Given the description of an element on the screen output the (x, y) to click on. 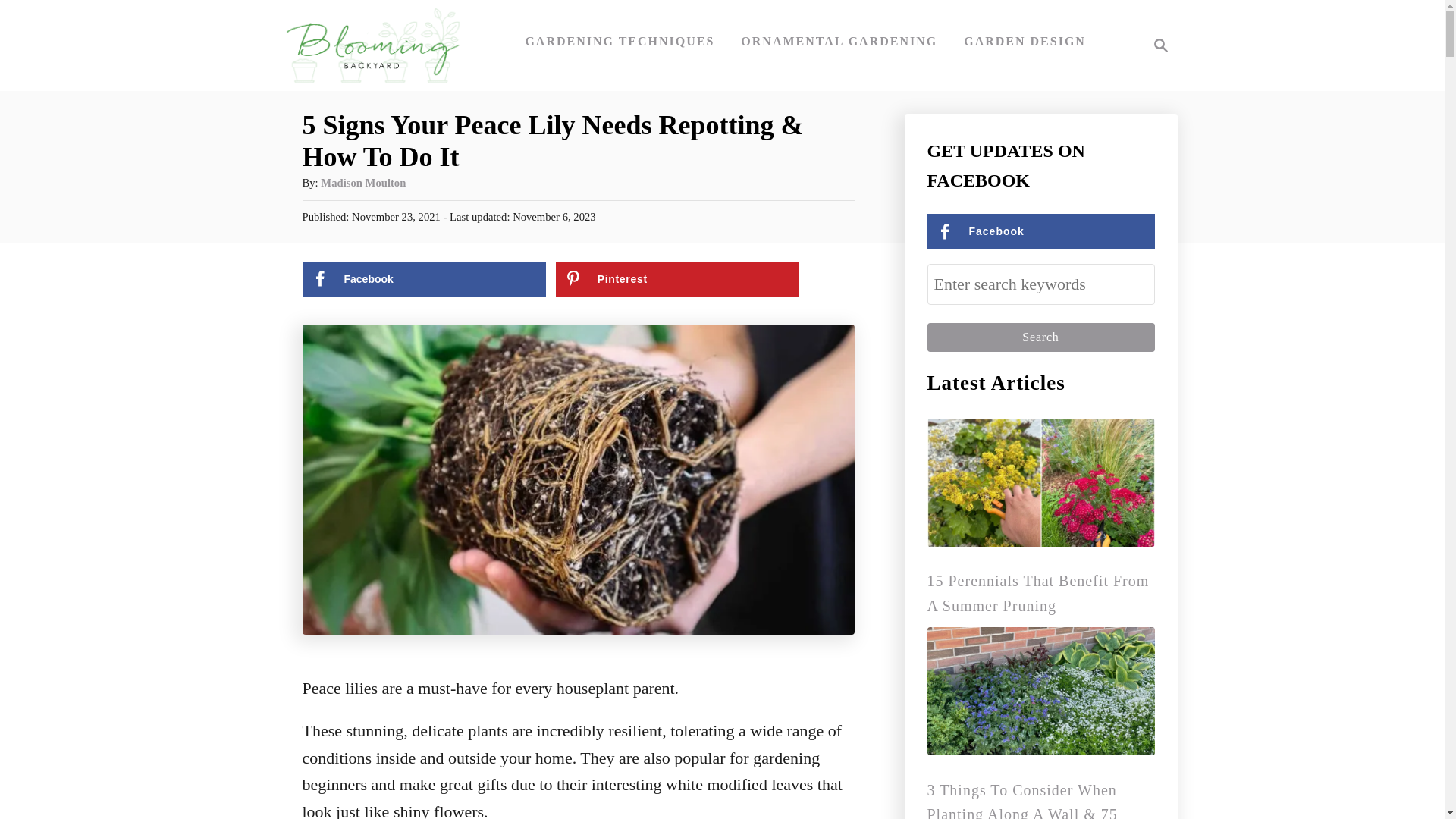
Follow on Facebook (1040, 230)
Search for: (1040, 283)
Save to Pinterest (677, 278)
Search (1040, 337)
ORNAMENTAL GARDENING (838, 41)
Magnifying Glass (1160, 45)
GARDENING TECHNIQUES (619, 41)
Search (1040, 337)
Pinterest (677, 278)
Madison Moulton (363, 182)
Blooming Backyard (1155, 45)
Share on Facebook (372, 45)
Facebook (422, 278)
GARDEN DESIGN (422, 278)
